Given the description of an element on the screen output the (x, y) to click on. 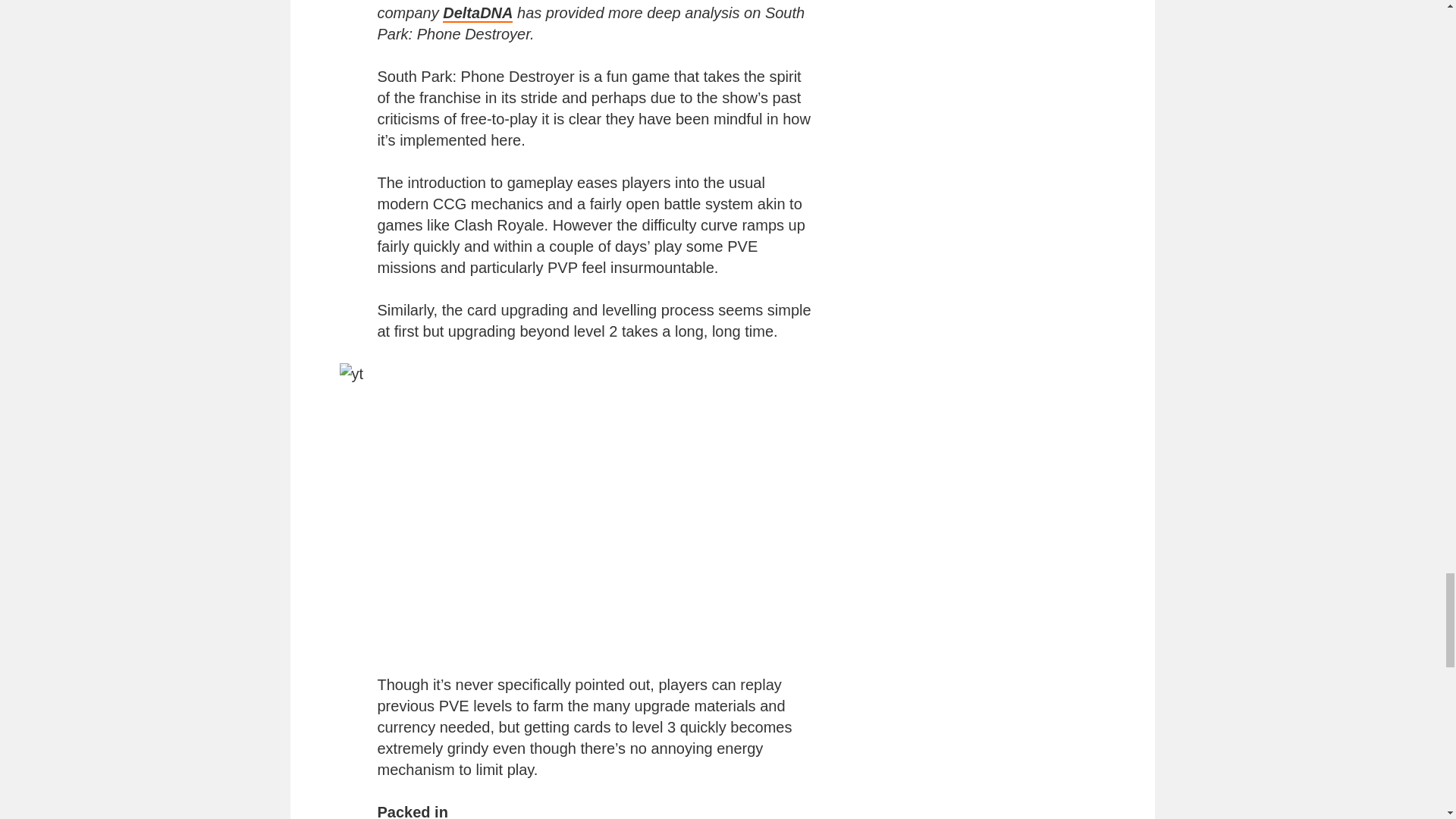
DeltaDNA (477, 13)
